Given the description of an element on the screen output the (x, y) to click on. 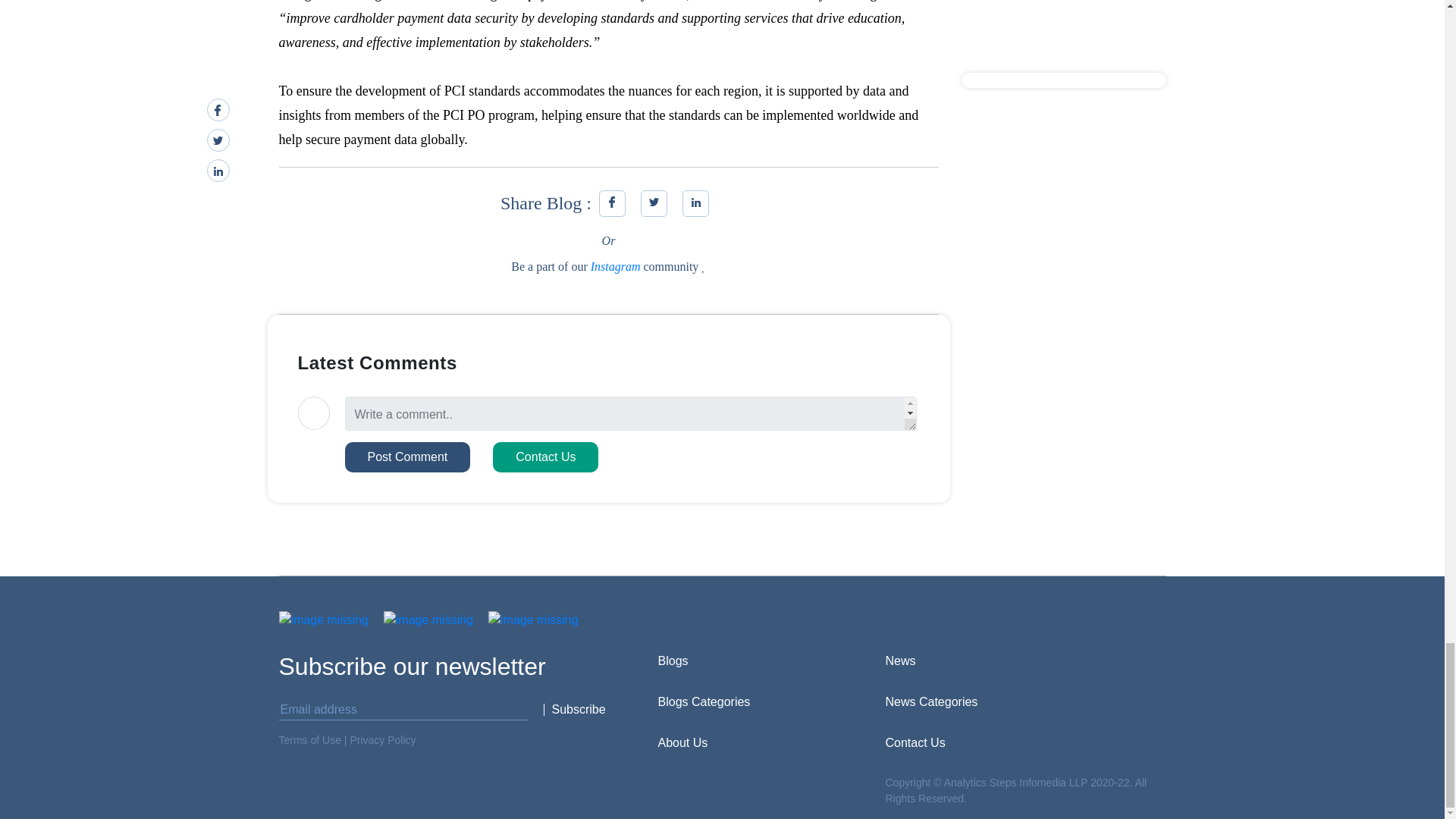
News Categories (931, 701)
Post Comment (406, 457)
Privacy Policy (381, 739)
Instagram (615, 266)
Blogs (673, 660)
Contact Us (545, 457)
News (900, 660)
Subscribe (576, 709)
Terms of Use (309, 739)
Contact Us (914, 742)
